Given the description of an element on the screen output the (x, y) to click on. 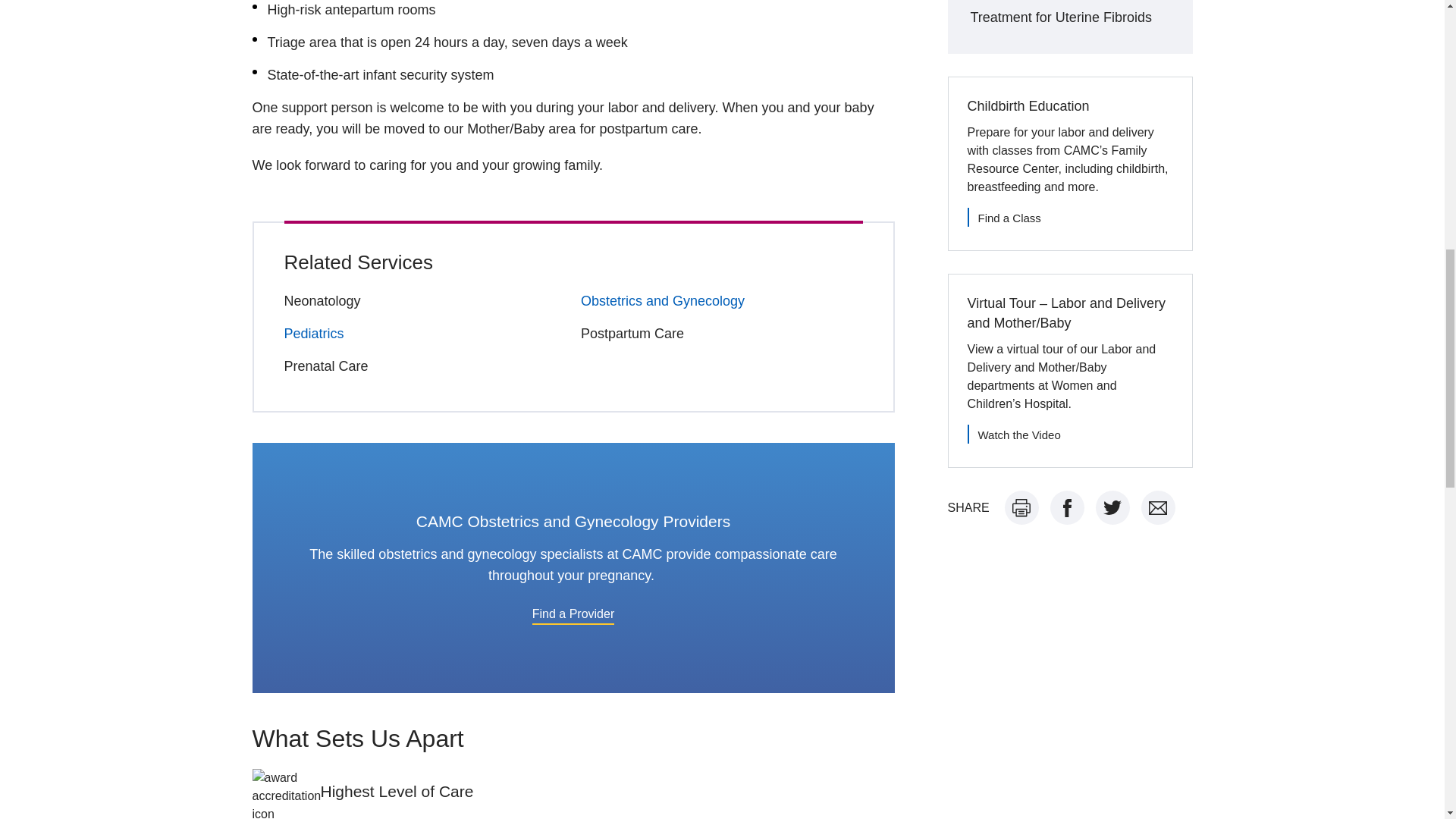
Find a Provider (573, 612)
Obstetrics and Gynecology (662, 300)
Pediatrics (313, 333)
